Given the description of an element on the screen output the (x, y) to click on. 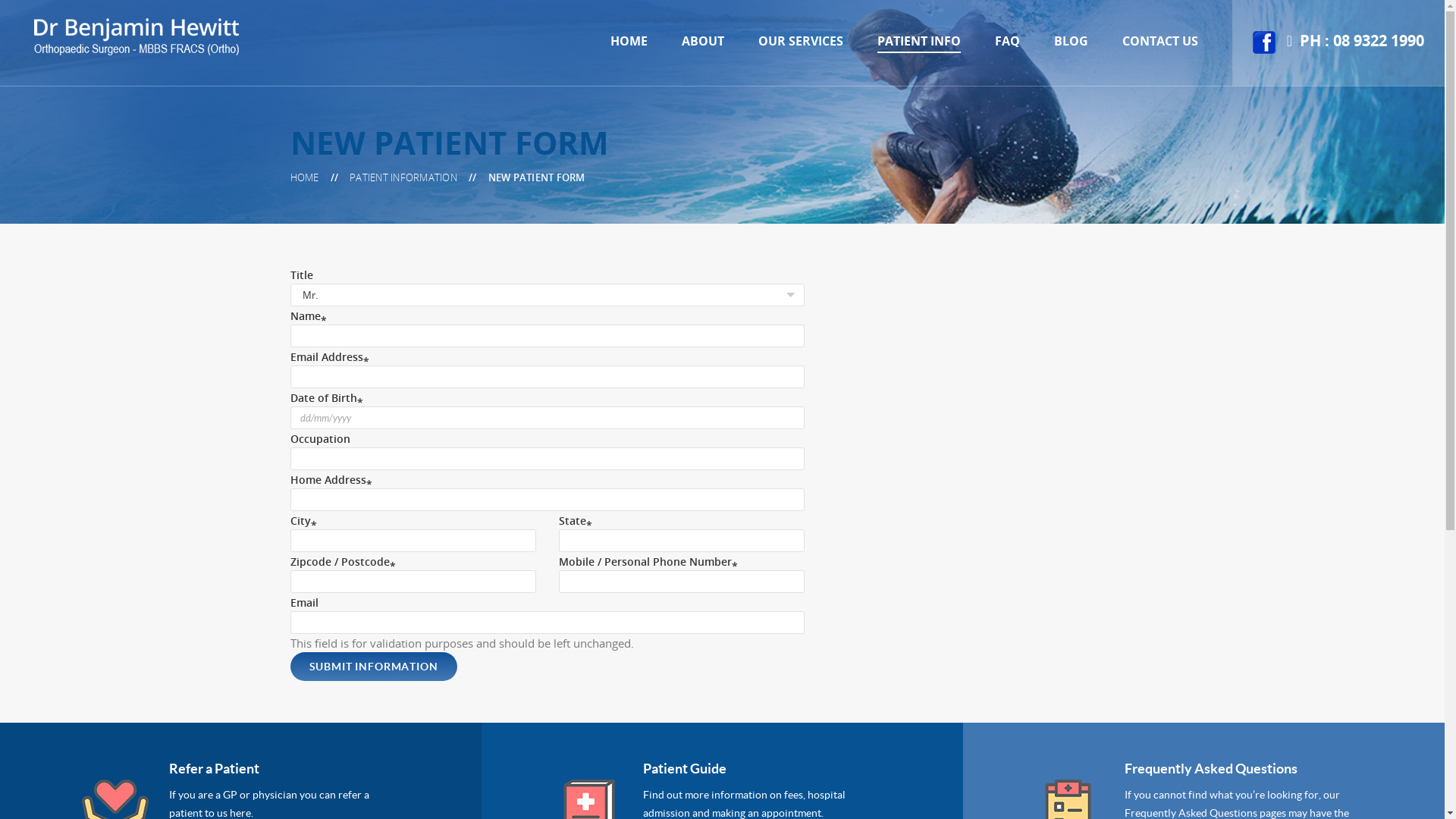
Refer a Patient Element type: text (214, 768)
Frequently Asked Questions Element type: text (1210, 768)
FAQ Element type: text (1006, 40)
PATIENT INFORMATION Element type: text (403, 177)
Patient Guide Element type: text (684, 768)
HOME Element type: text (303, 177)
BLOG Element type: text (1071, 40)
OUR SERVICES Element type: text (800, 40)
CONTACT US Element type: text (1160, 40)
ABOUT Element type: text (702, 40)
Dr Benjamin Hewitt Element type: hover (136, 35)
Submit Information Element type: text (372, 666)
PATIENT INFO Element type: text (918, 40)
HOME Element type: text (628, 40)
